Given the description of an element on the screen output the (x, y) to click on. 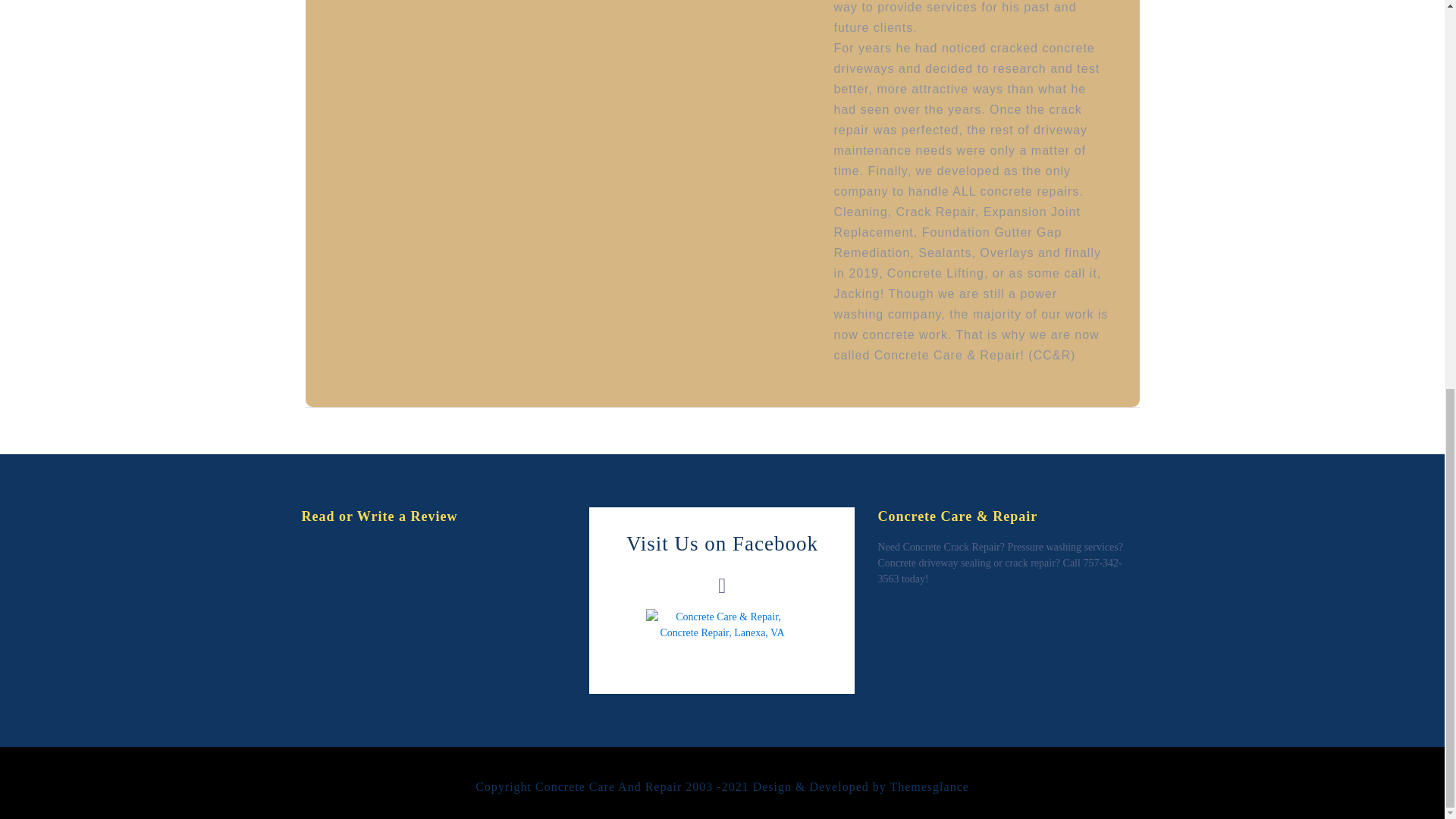
Themesglance (927, 786)
